Given the description of an element on the screen output the (x, y) to click on. 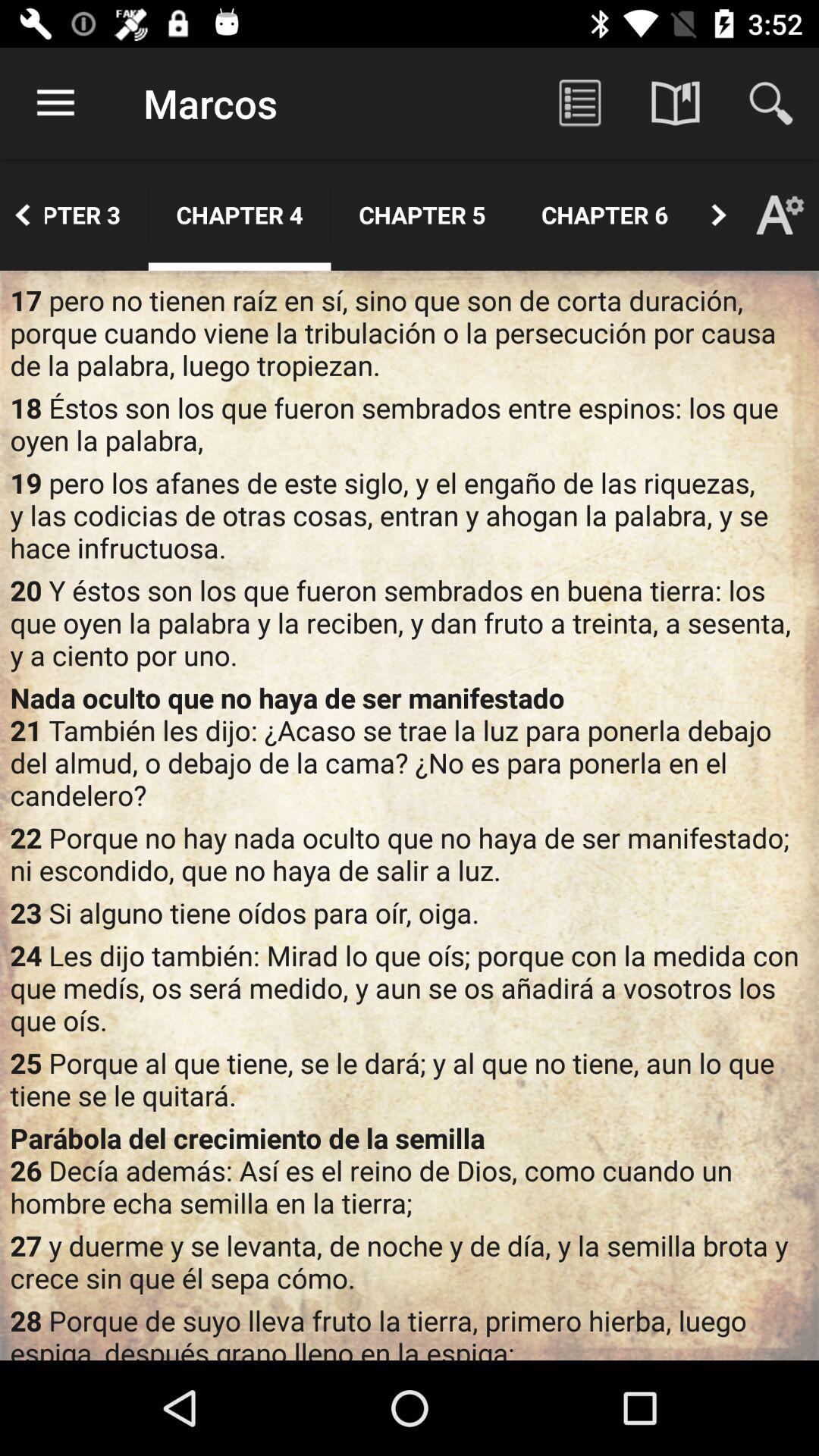
select item below the 19 pero los (409, 622)
